Given the description of an element on the screen output the (x, y) to click on. 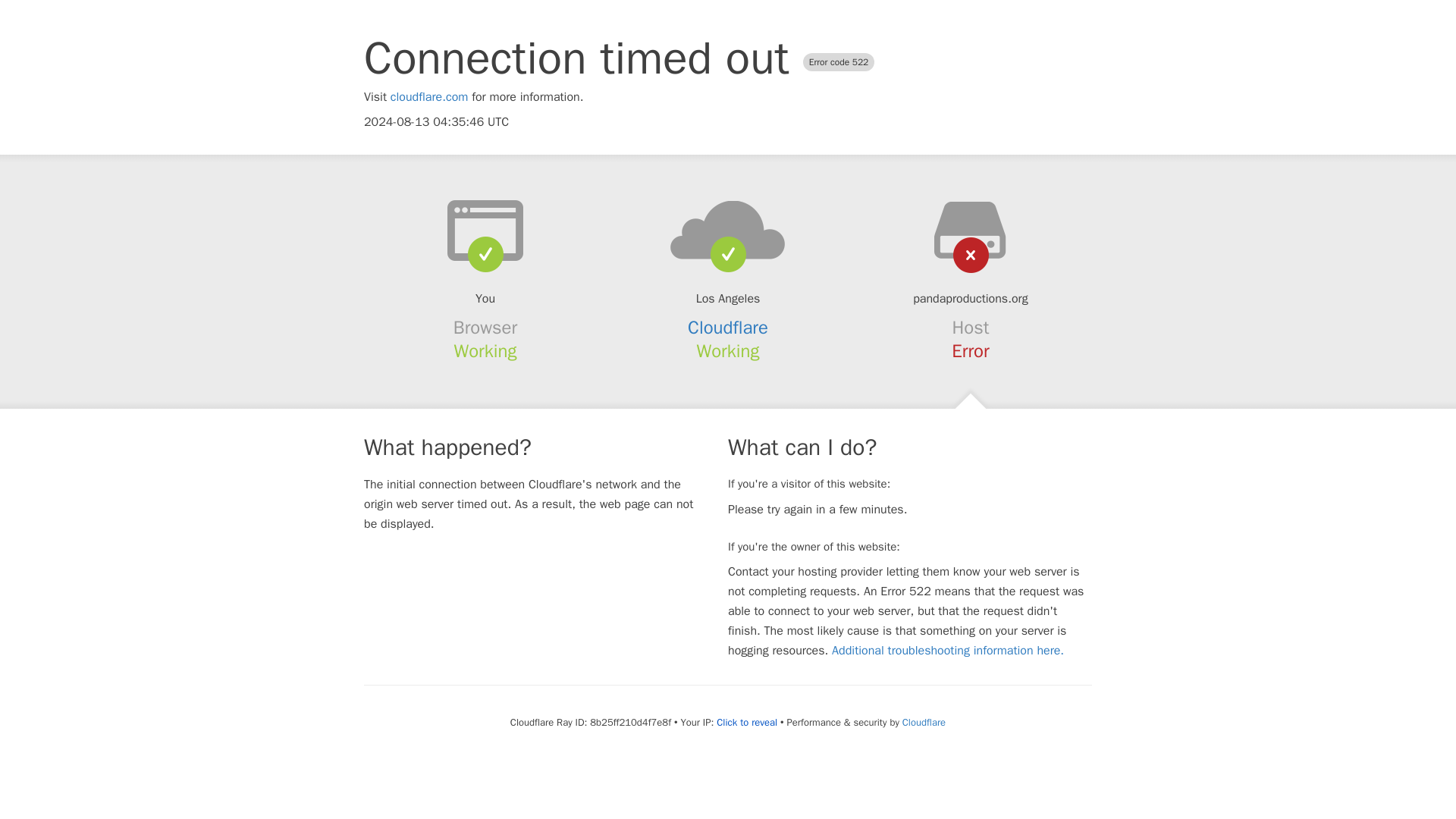
Additional troubleshooting information here. (947, 650)
Cloudflare (727, 327)
cloudflare.com (429, 96)
Click to reveal (746, 722)
Cloudflare (923, 721)
